Given the description of an element on the screen output the (x, y) to click on. 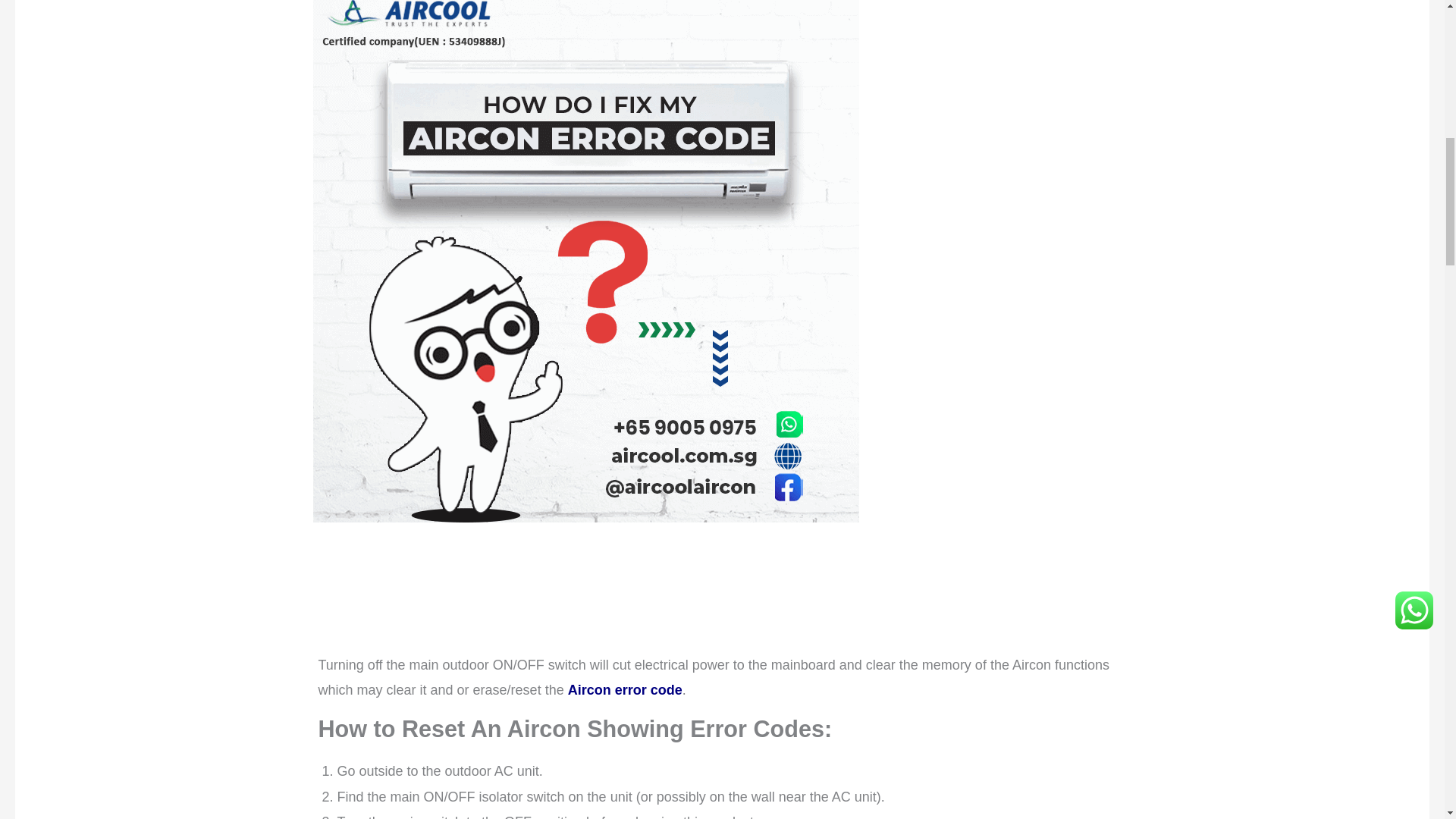
Aircon error code (624, 693)
Aircon error Code (624, 693)
